Given the description of an element on the screen output the (x, y) to click on. 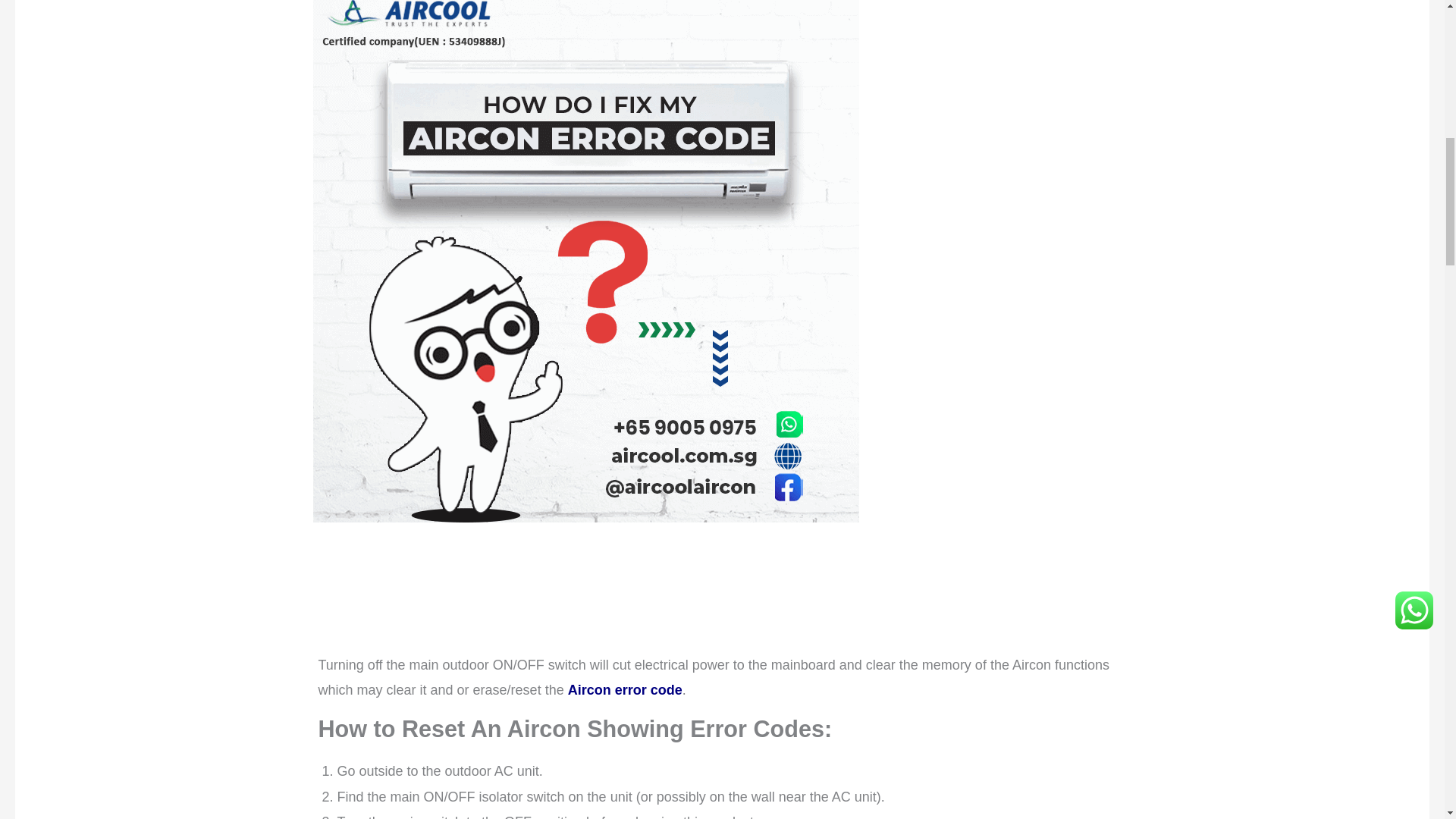
Aircon error code (624, 693)
Aircon error Code (624, 693)
